Given the description of an element on the screen output the (x, y) to click on. 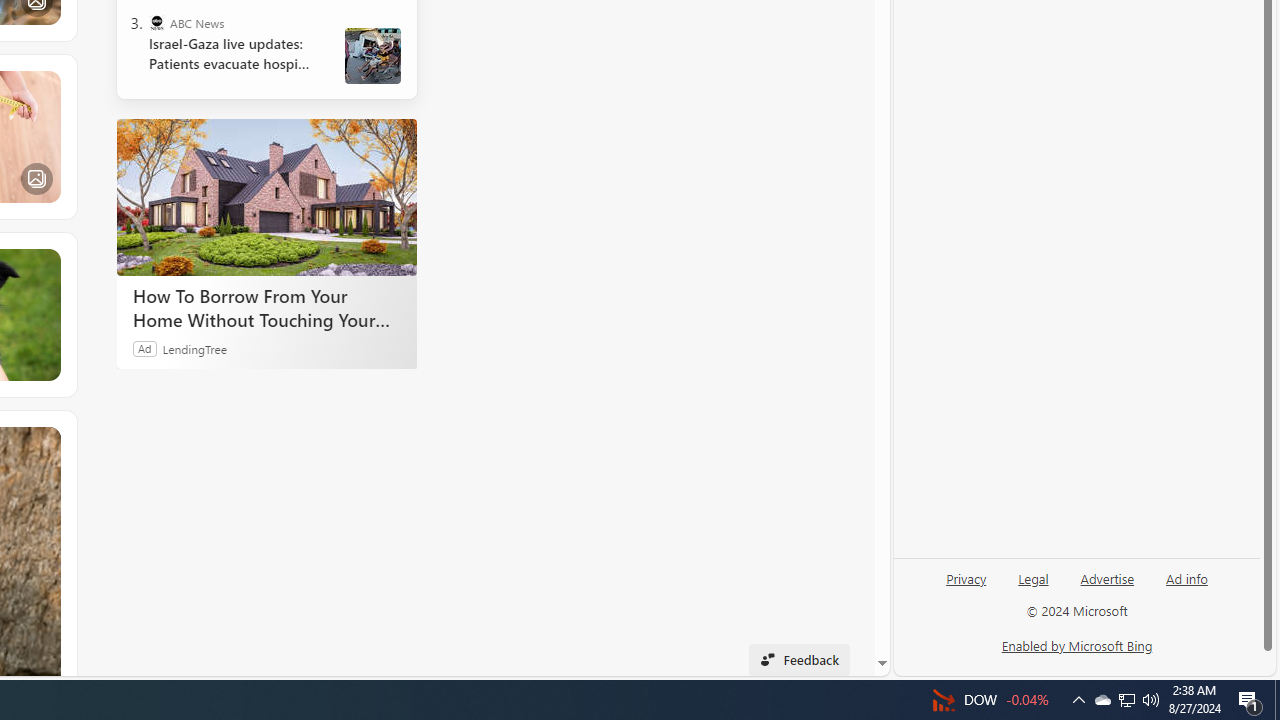
Advertise (1106, 586)
Privacy (966, 586)
Legal (1033, 577)
